Given the description of an element on the screen output the (x, y) to click on. 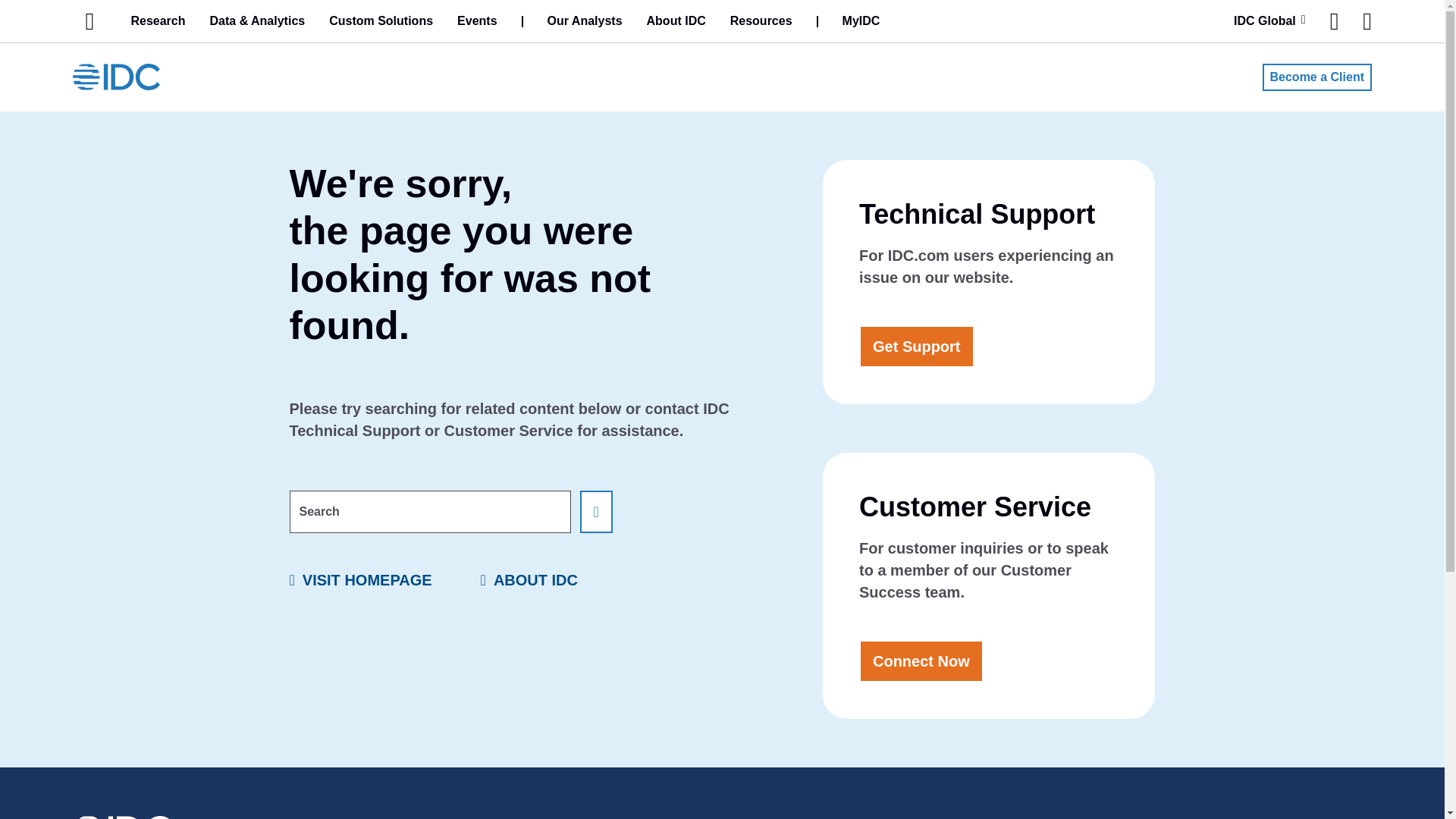
About IDC (675, 21)
Home (89, 21)
Custom Solutions (381, 21)
Our Analysts (584, 21)
Become a Client (1316, 76)
Research (156, 21)
MyIDC (860, 21)
Events (476, 21)
Resources (761, 21)
